Given the description of an element on the screen output the (x, y) to click on. 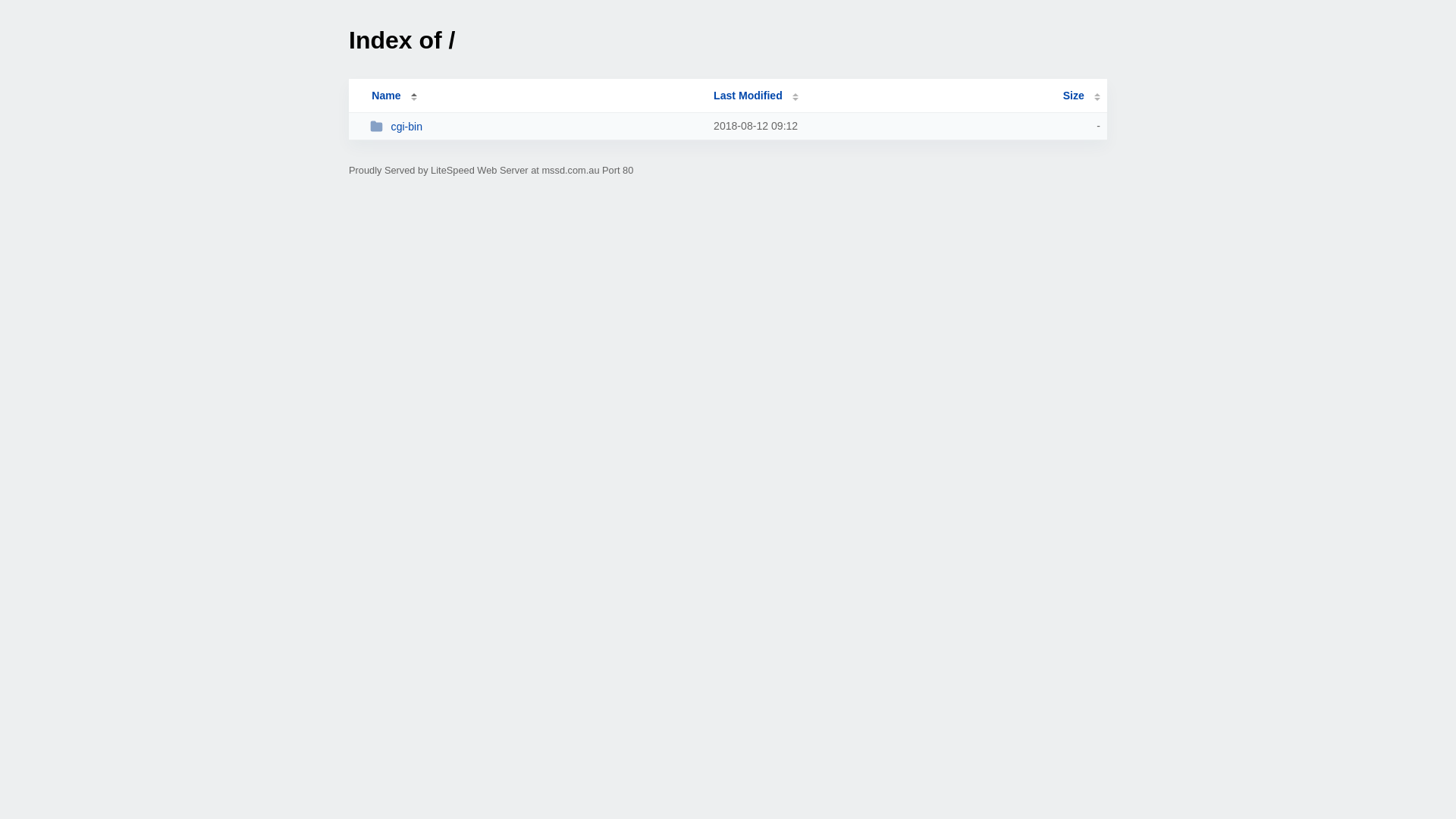
cgi-bin Element type: text (534, 125)
Last Modified Element type: text (755, 95)
Name Element type: text (385, 95)
Size Element type: text (1081, 95)
